Given the description of an element on the screen output the (x, y) to click on. 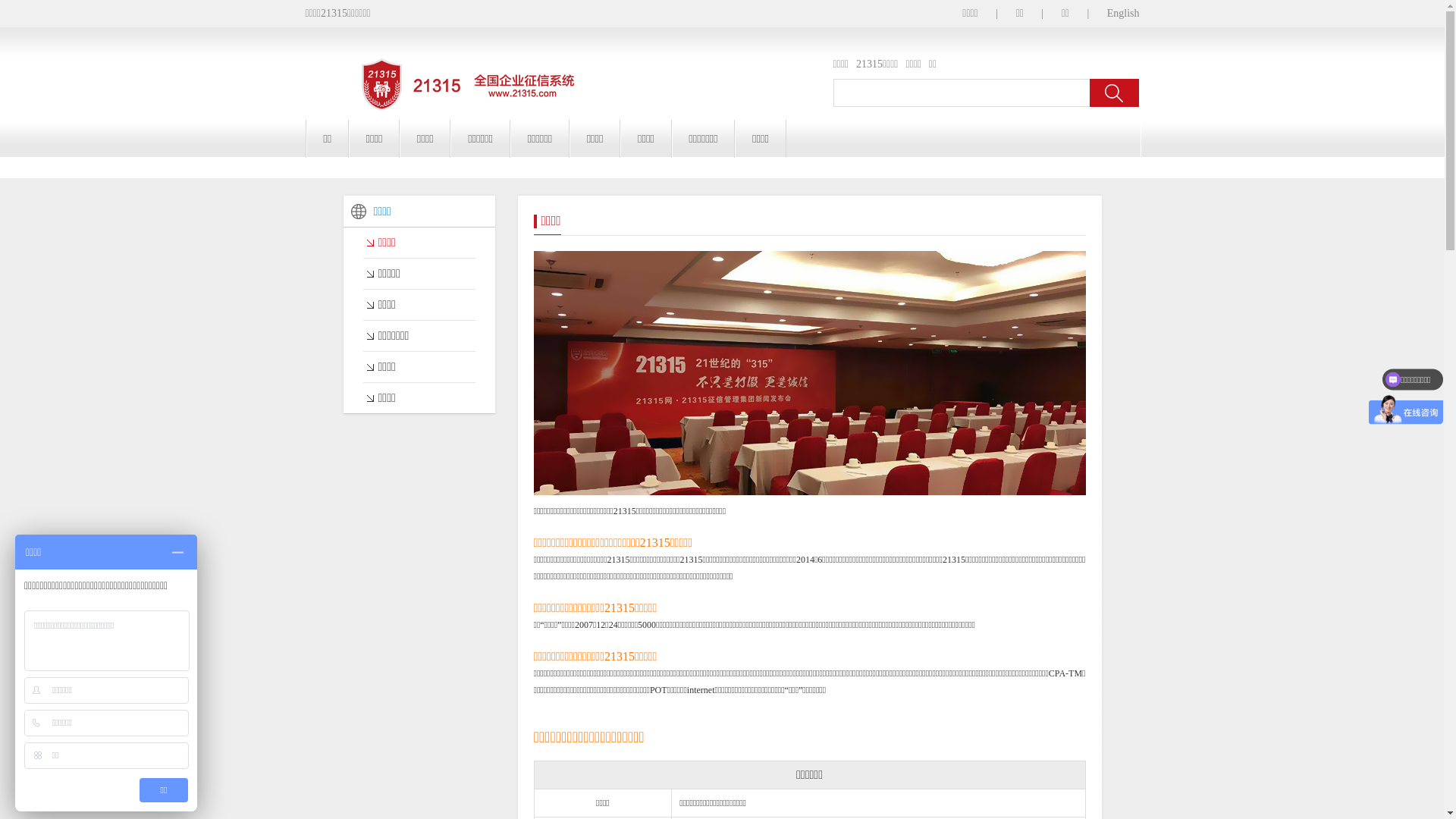
English Element type: text (1123, 12)
